Given the description of an element on the screen output the (x, y) to click on. 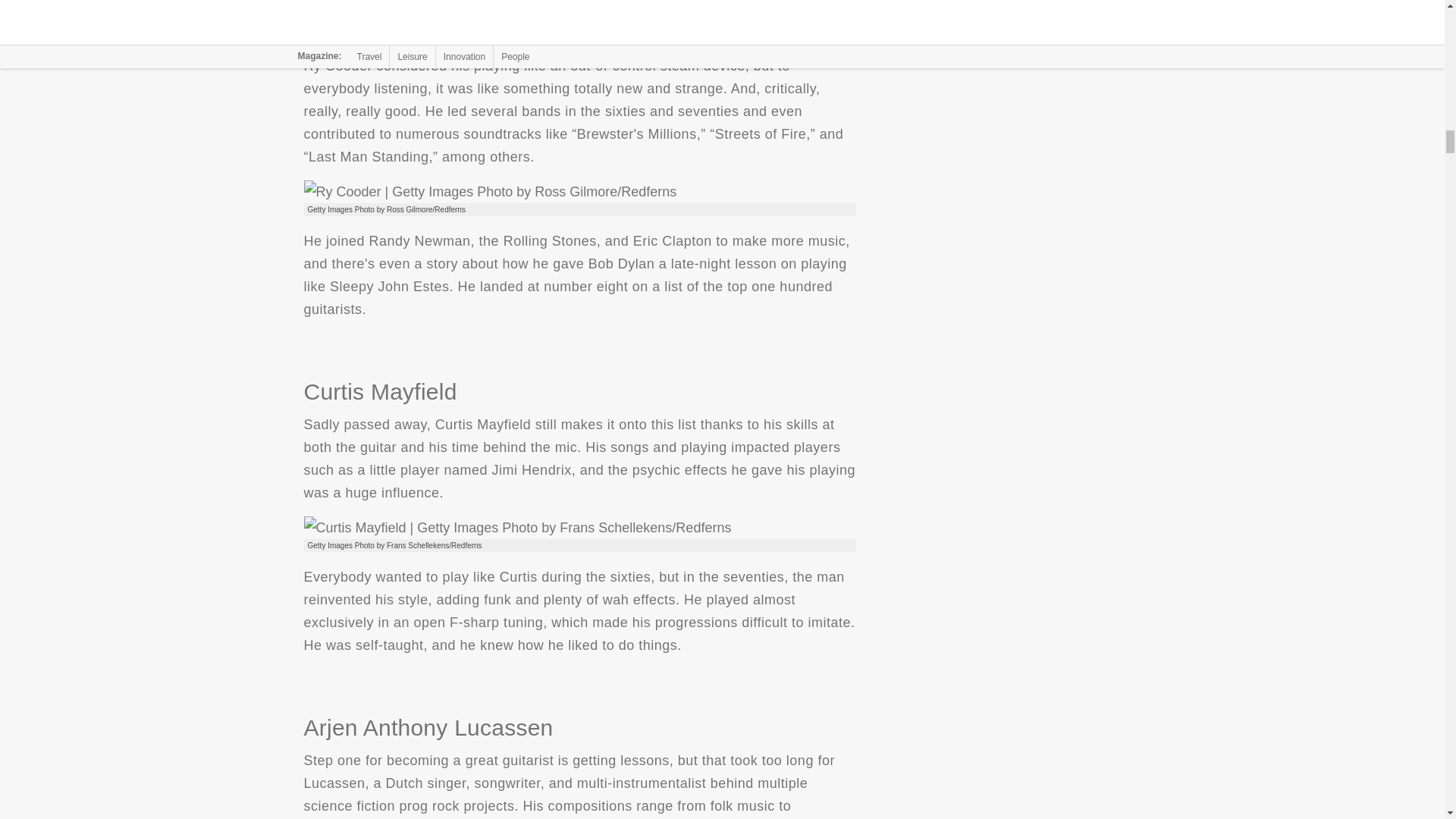
Curtis Mayfield (516, 527)
Ry Cooder (489, 191)
